Given the description of an element on the screen output the (x, y) to click on. 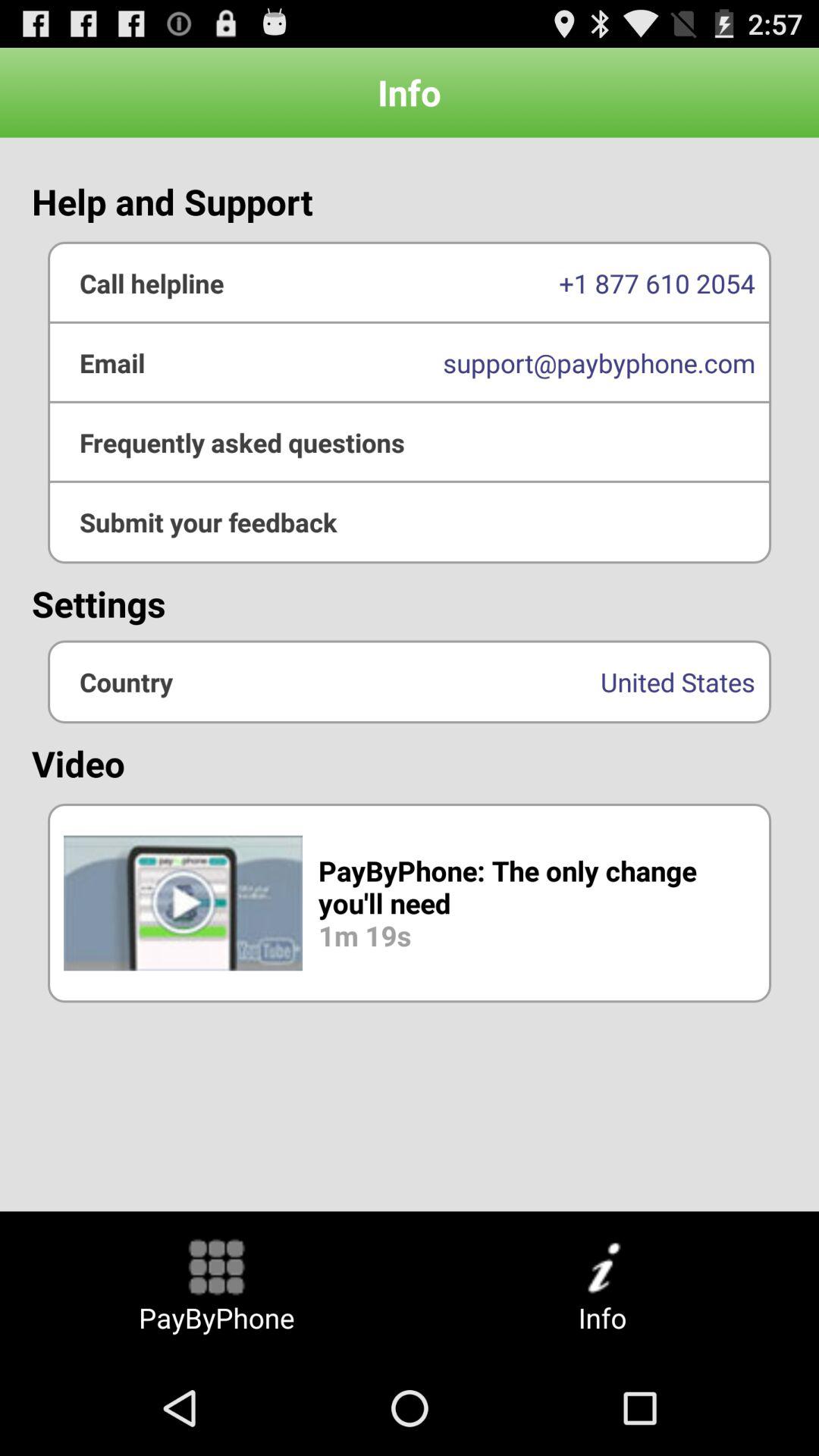
frequently asked questions (409, 442)
